Given the description of an element on the screen output the (x, y) to click on. 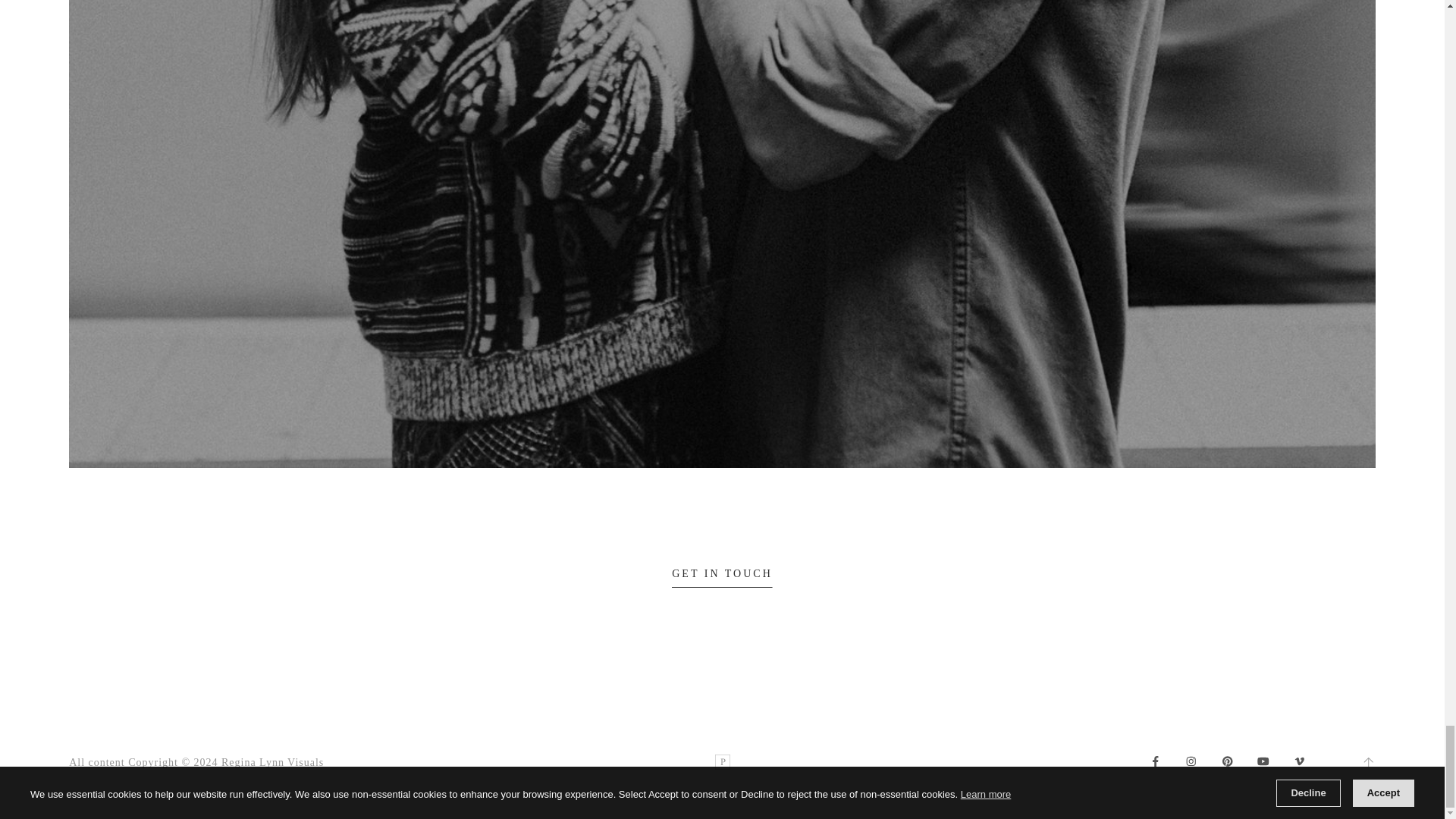
GET IN TOUCH (722, 578)
